Given the description of an element on the screen output the (x, y) to click on. 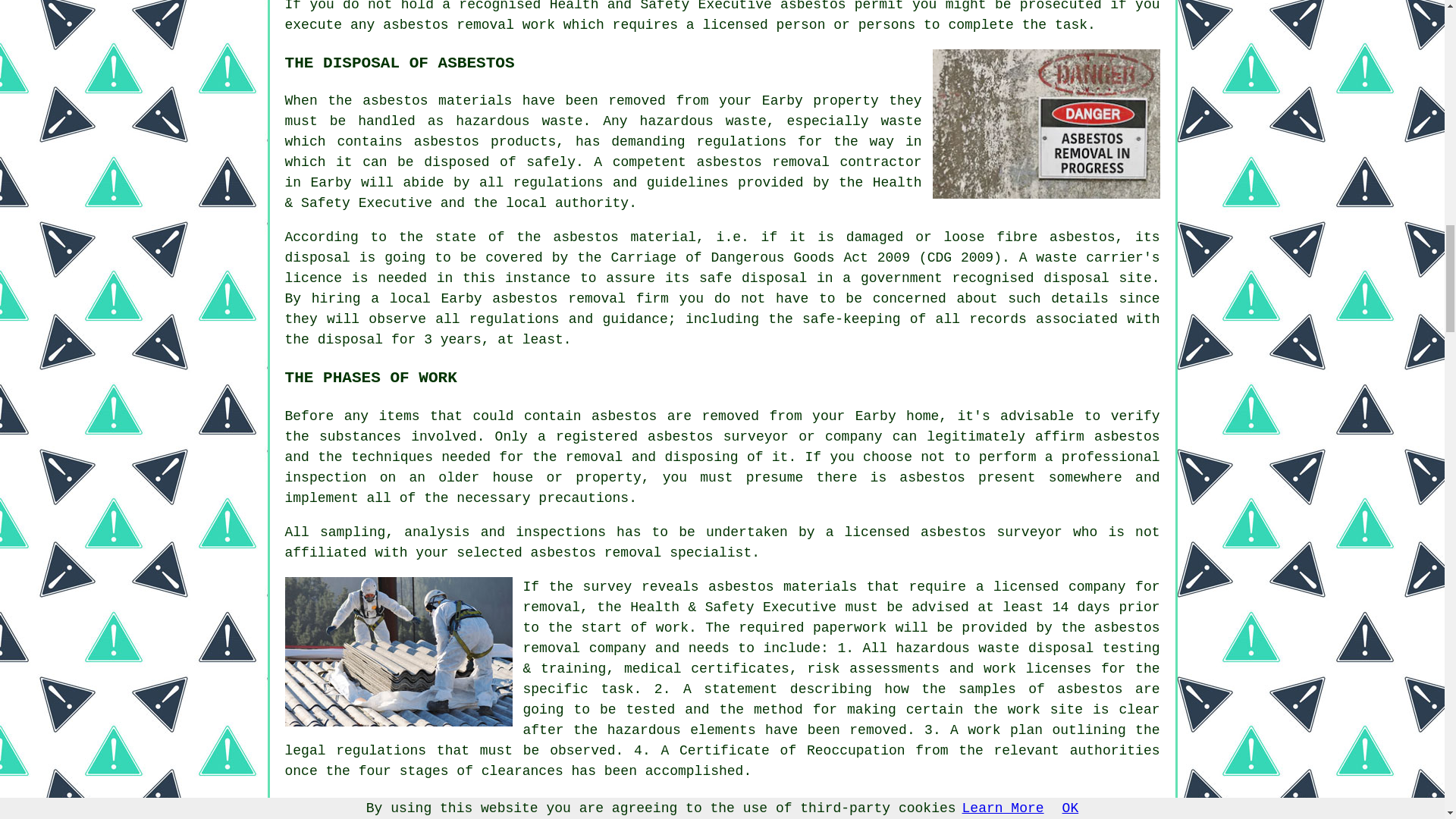
asbestos removal (762, 161)
asbestos surveyor (718, 436)
hazardous waste (518, 120)
asbestos (415, 23)
Asbestos Disposal Earby Lancashire (398, 651)
asbestos surveyor (991, 531)
